Given the description of an element on the screen output the (x, y) to click on. 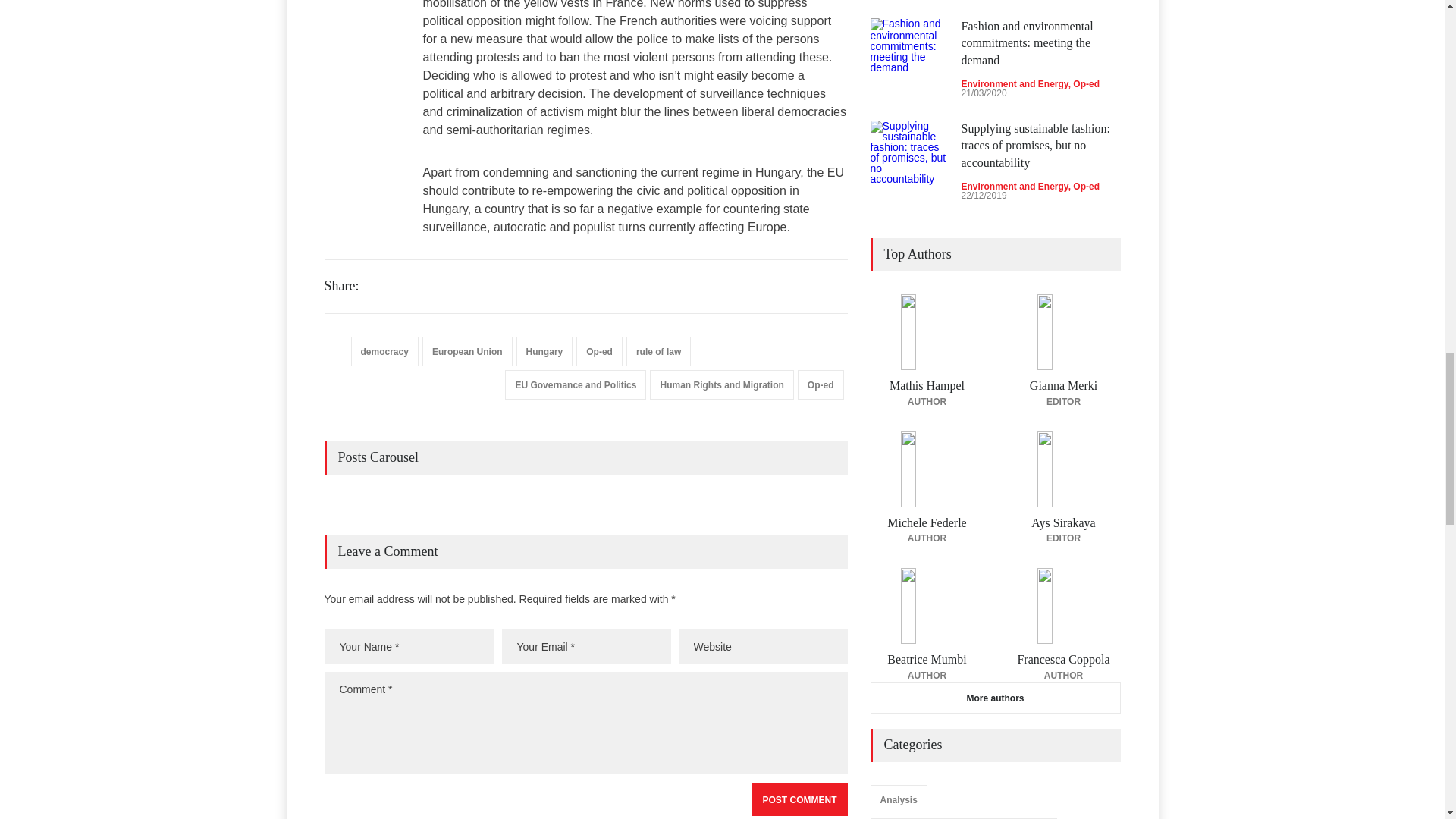
POST COMMENT (799, 798)
Website (762, 646)
